Given the description of an element on the screen output the (x, y) to click on. 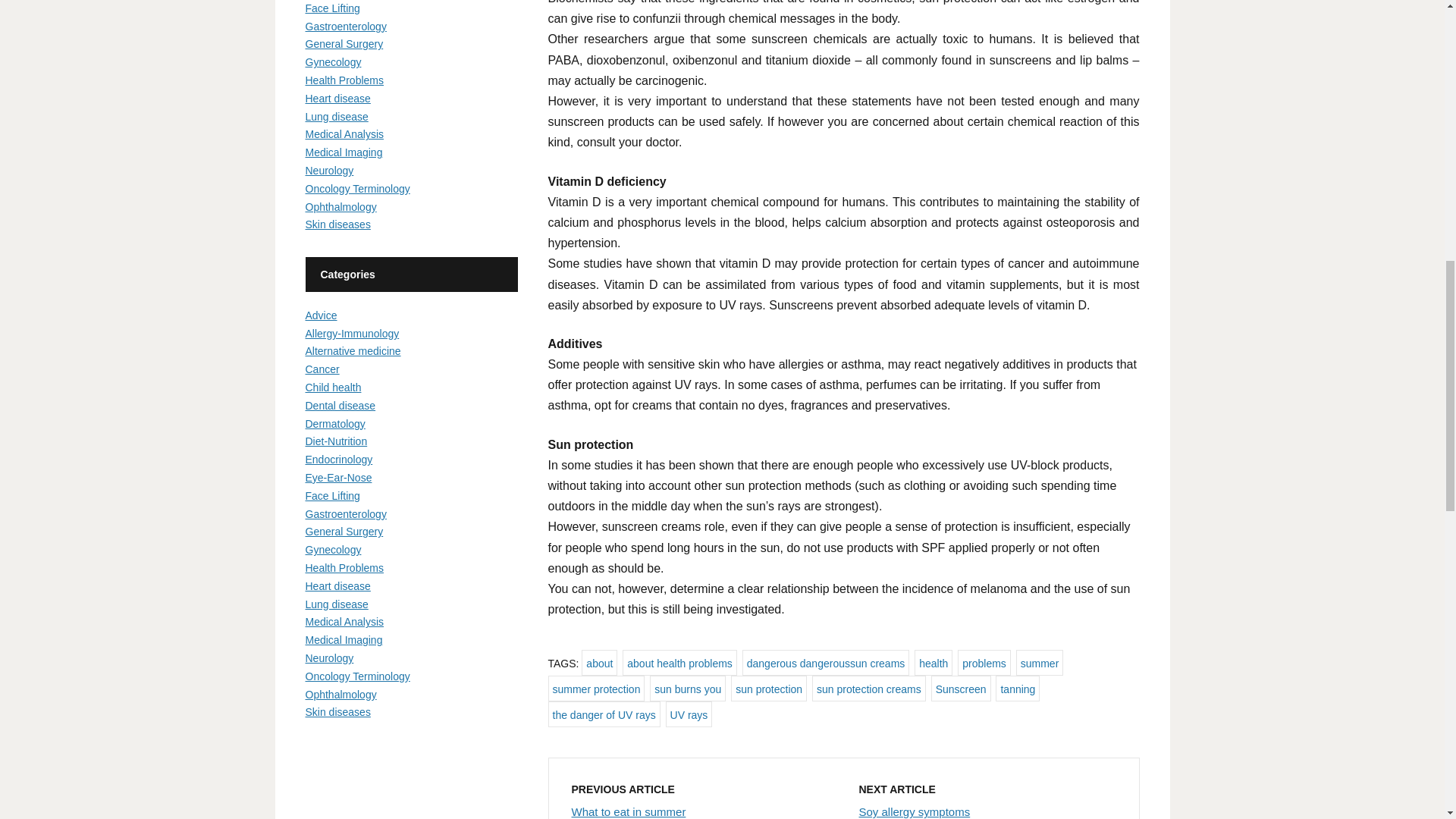
What to eat in summer (628, 811)
about (598, 662)
Gynecology (332, 61)
problems (984, 662)
Heart disease (336, 98)
sun burns you (687, 688)
Health Problems (344, 80)
Gastroenterology (344, 26)
Soy allergy symptoms (914, 811)
Sunscreen (961, 688)
